Given the description of an element on the screen output the (x, y) to click on. 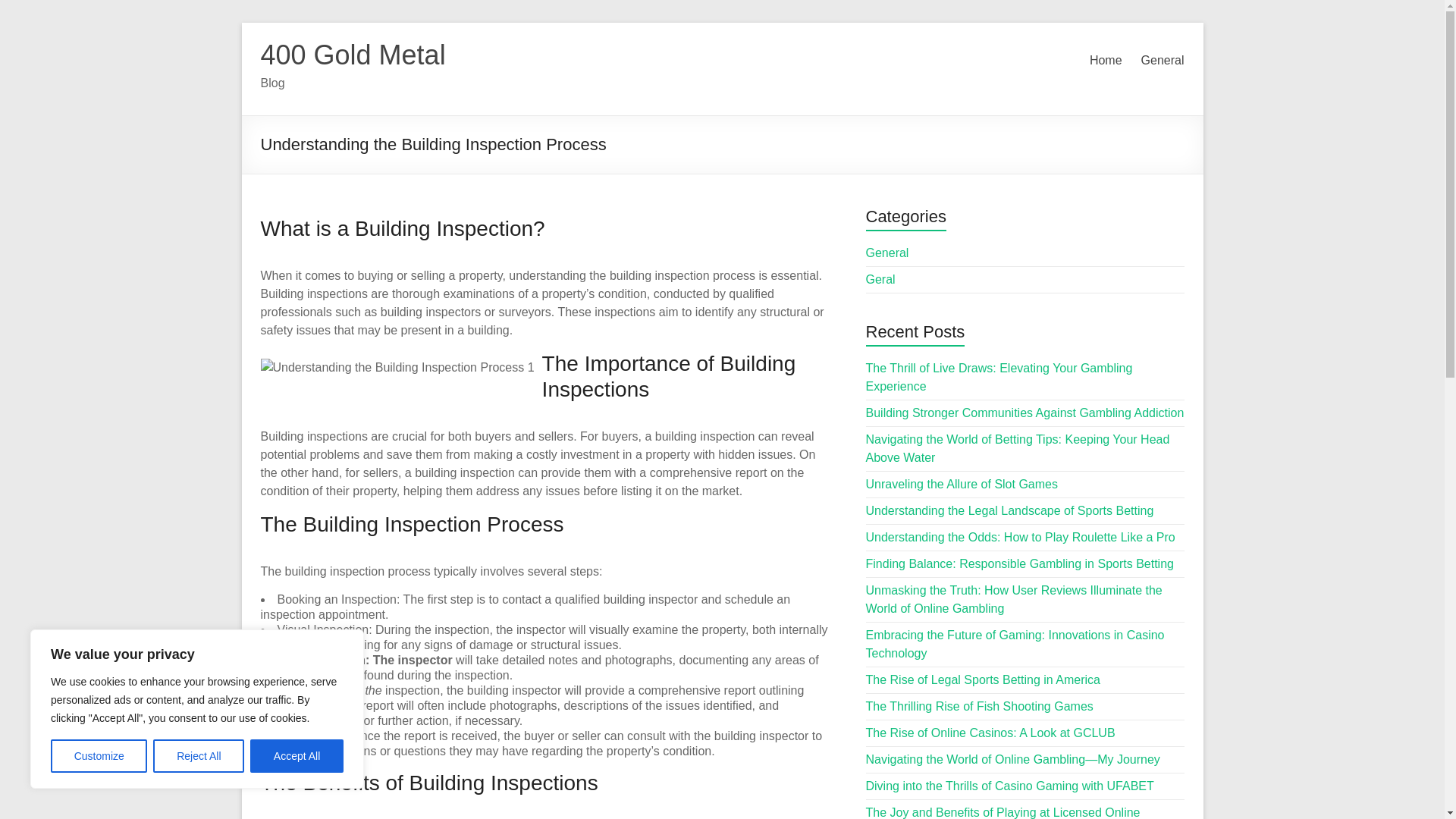
Understanding the Odds: How to Play Roulette Like a Pro (1020, 536)
Geral (880, 278)
Home (1105, 60)
General (1163, 60)
Building Stronger Communities Against Gambling Addiction (1025, 412)
Finding Balance: Responsible Gambling in Sports Betting (1019, 563)
The Thrill of Live Draws: Elevating Your Gambling Experience (999, 377)
Unraveling the Allure of Slot Games (962, 483)
General (887, 252)
